Given the description of an element on the screen output the (x, y) to click on. 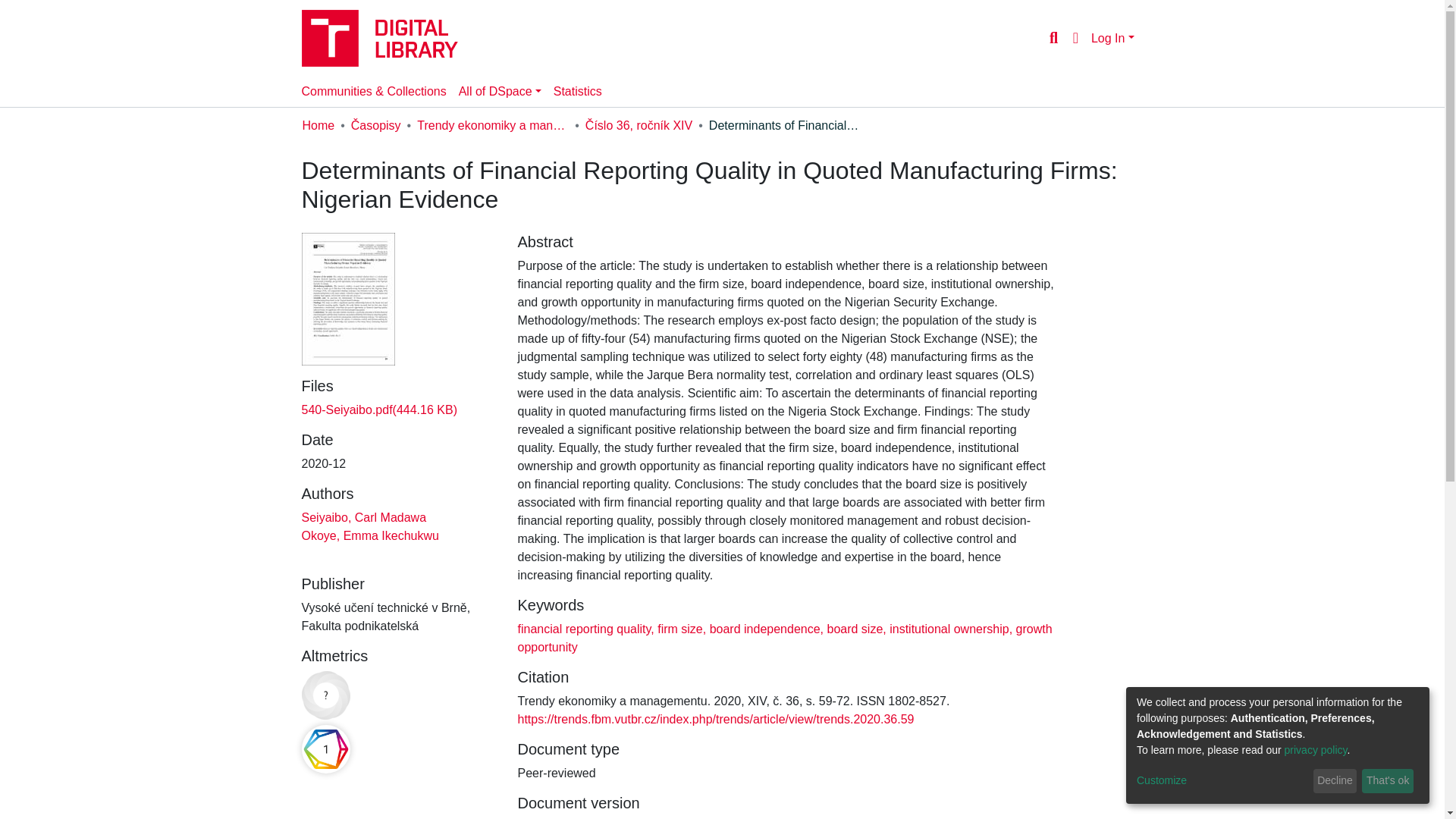
board independence, (765, 628)
firm size, (679, 628)
privacy policy (1316, 749)
Customize (1222, 780)
Home (317, 126)
board size, (855, 628)
Statistics (577, 91)
Search (1052, 37)
Log In (1112, 38)
All of DSpace (499, 91)
Okoye, Emma Ikechukwu (370, 535)
financial reporting quality, (584, 628)
Seiyaibo, Carl Madawa (363, 517)
1 (325, 748)
Trendy ekonomiky a managementu (492, 126)
